Given the description of an element on the screen output the (x, y) to click on. 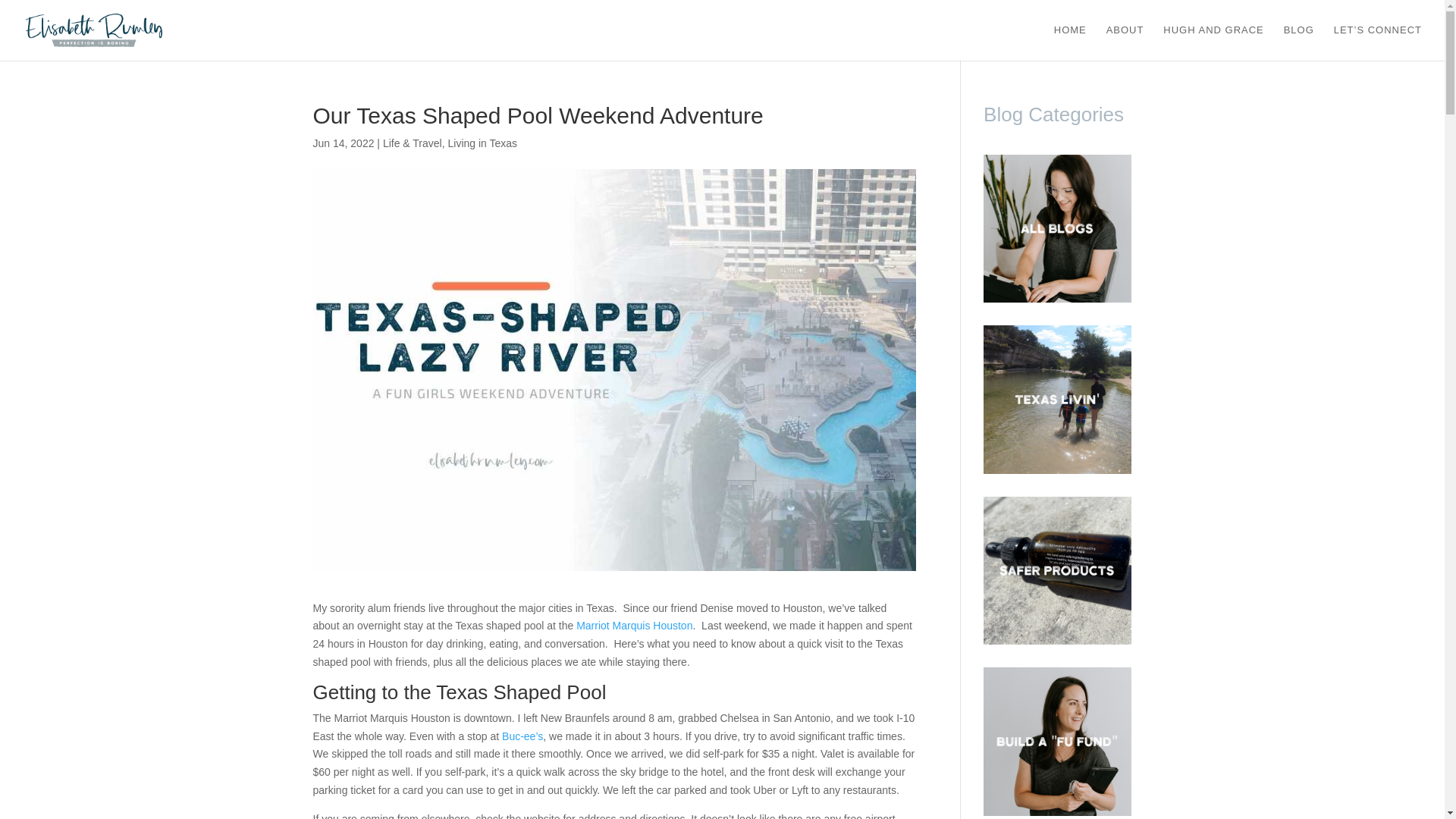
Living in Texas (481, 143)
Marriot Marquis Houston (634, 625)
HOME (1070, 42)
ABOUT (1125, 42)
HUGH AND GRACE (1213, 42)
